Given the description of an element on the screen output the (x, y) to click on. 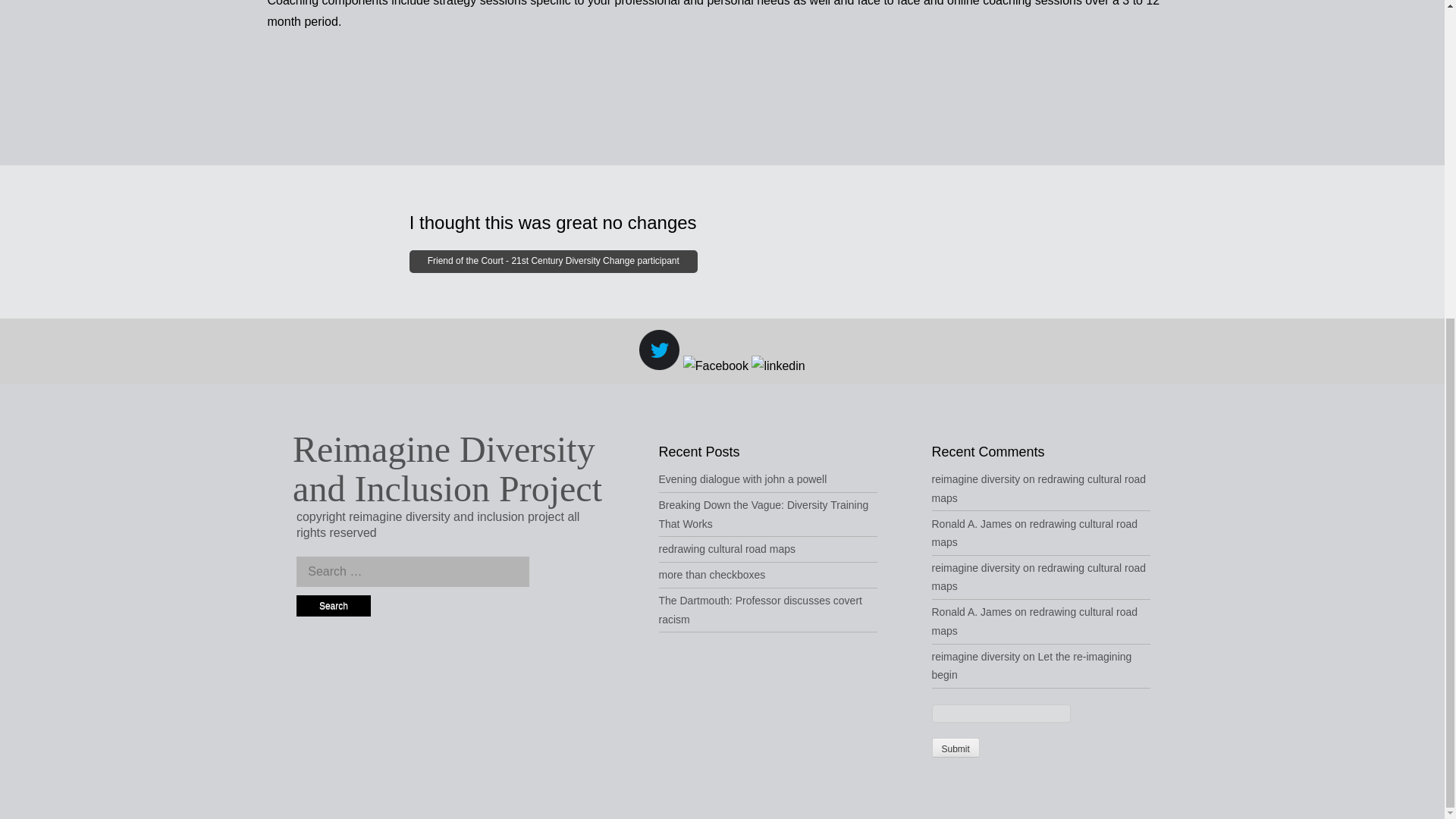
more than checkboxes (711, 574)
Submit (954, 747)
redrawing cultural road maps (726, 548)
Reimagine Diversity and Inclusion Project (447, 469)
Search (334, 606)
redrawing cultural road maps (1037, 576)
redrawing cultural road maps (1034, 532)
redrawing cultural road maps (1034, 621)
Search (334, 606)
Let the re-imagining begin (1031, 665)
